Given the description of an element on the screen output the (x, y) to click on. 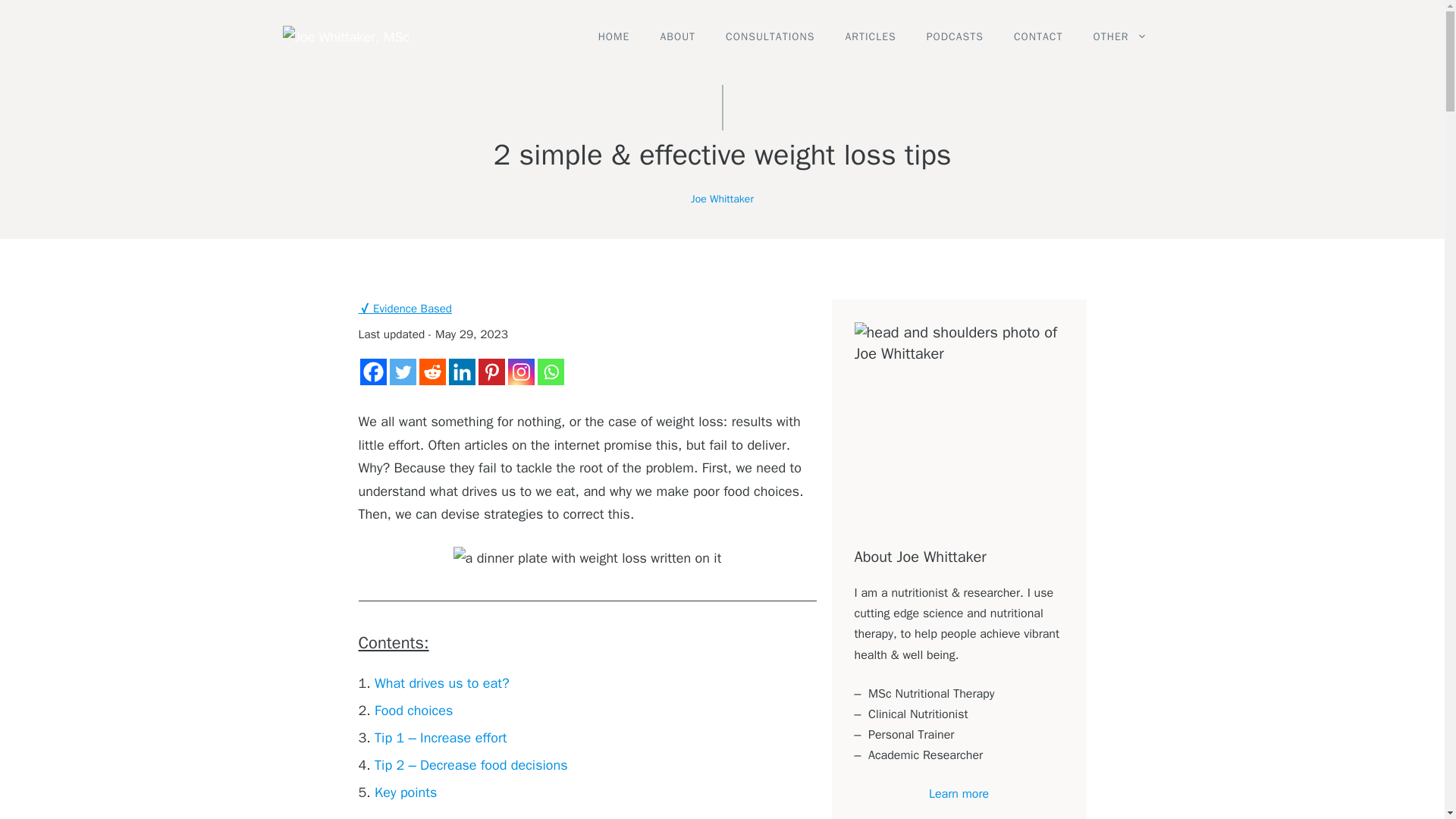
HOME (614, 36)
Instagram (521, 371)
ABOUT (677, 36)
Food choices (413, 710)
ARTICLES (870, 36)
Key points (405, 791)
Reddit (432, 371)
PODCASTS (954, 36)
Whatsapp (550, 371)
Joe Whittaker (722, 198)
